Given the description of an element on the screen output the (x, y) to click on. 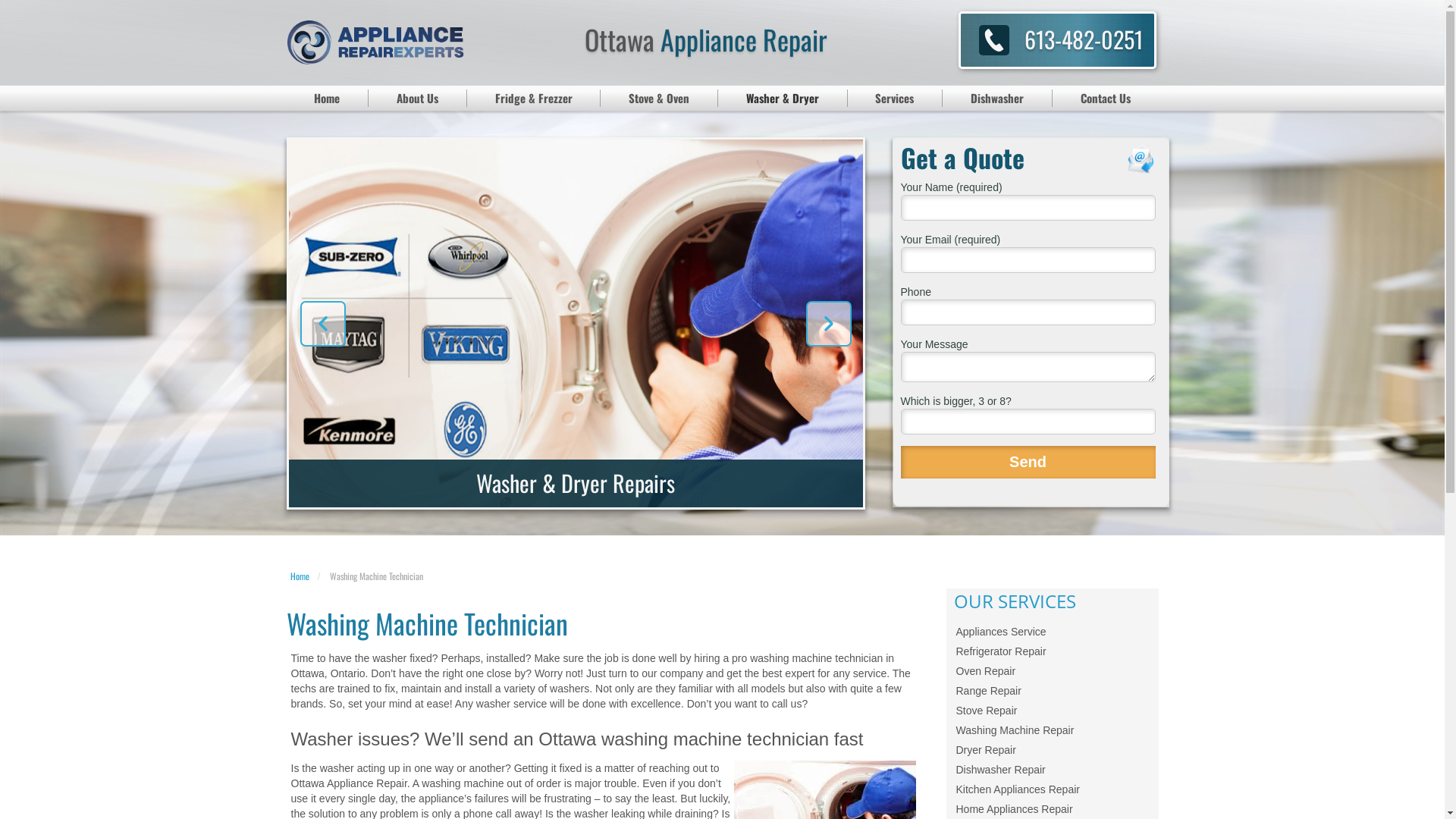
Contact Us Element type: text (1105, 97)
Stove & Oven Element type: text (659, 97)
Oven Repair Element type: text (1052, 670)
Services Element type: text (895, 97)
Fridge & Frezzer Element type: text (534, 97)
Appliances Service Element type: text (1052, 631)
Dryer Repair Element type: text (1052, 749)
Washing Machine Repair Element type: text (1052, 730)
Dishwasher Element type: text (997, 97)
Send Element type: text (1027, 461)
About Us Element type: text (417, 97)
Kitchen Appliances Repair Element type: text (1052, 789)
Stove Repair Element type: text (1052, 710)
Home Element type: text (327, 97)
Dishwasher Repair Element type: text (1052, 769)
Range Repair Element type: text (1052, 690)
Washer & Dryer Element type: text (782, 97)
Refrigerator Repair Element type: text (1052, 651)
Home Element type: text (298, 575)
